Given the description of an element on the screen output the (x, y) to click on. 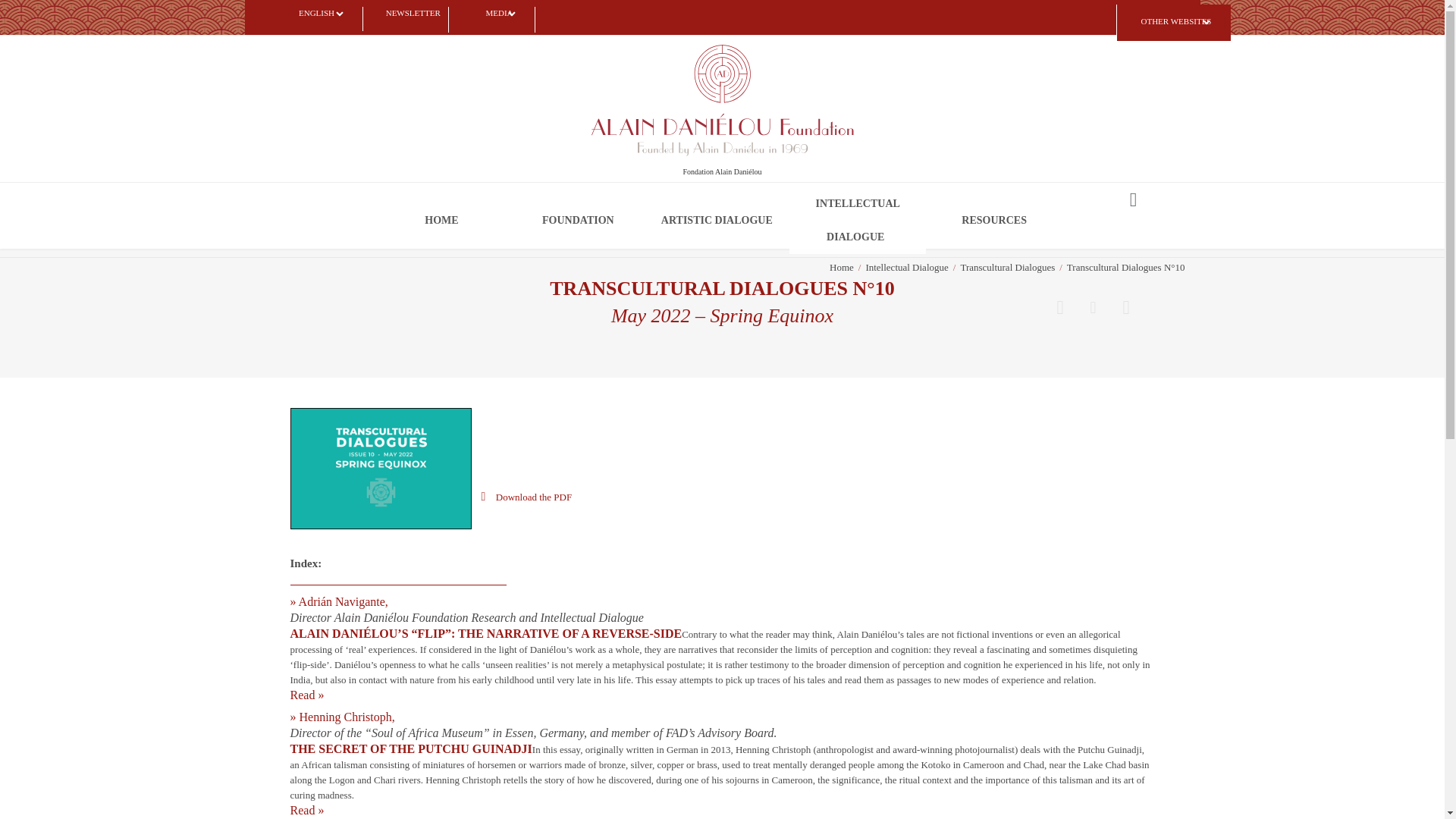
FOUNDATION (579, 220)
ENGLISH (320, 18)
OTHER WEBSITES (1176, 27)
HOME (440, 220)
MEDIA (501, 19)
INTELLECTUAL DIALOGUE (857, 220)
English (320, 18)
NEWSLETTER (414, 19)
